Given the description of an element on the screen output the (x, y) to click on. 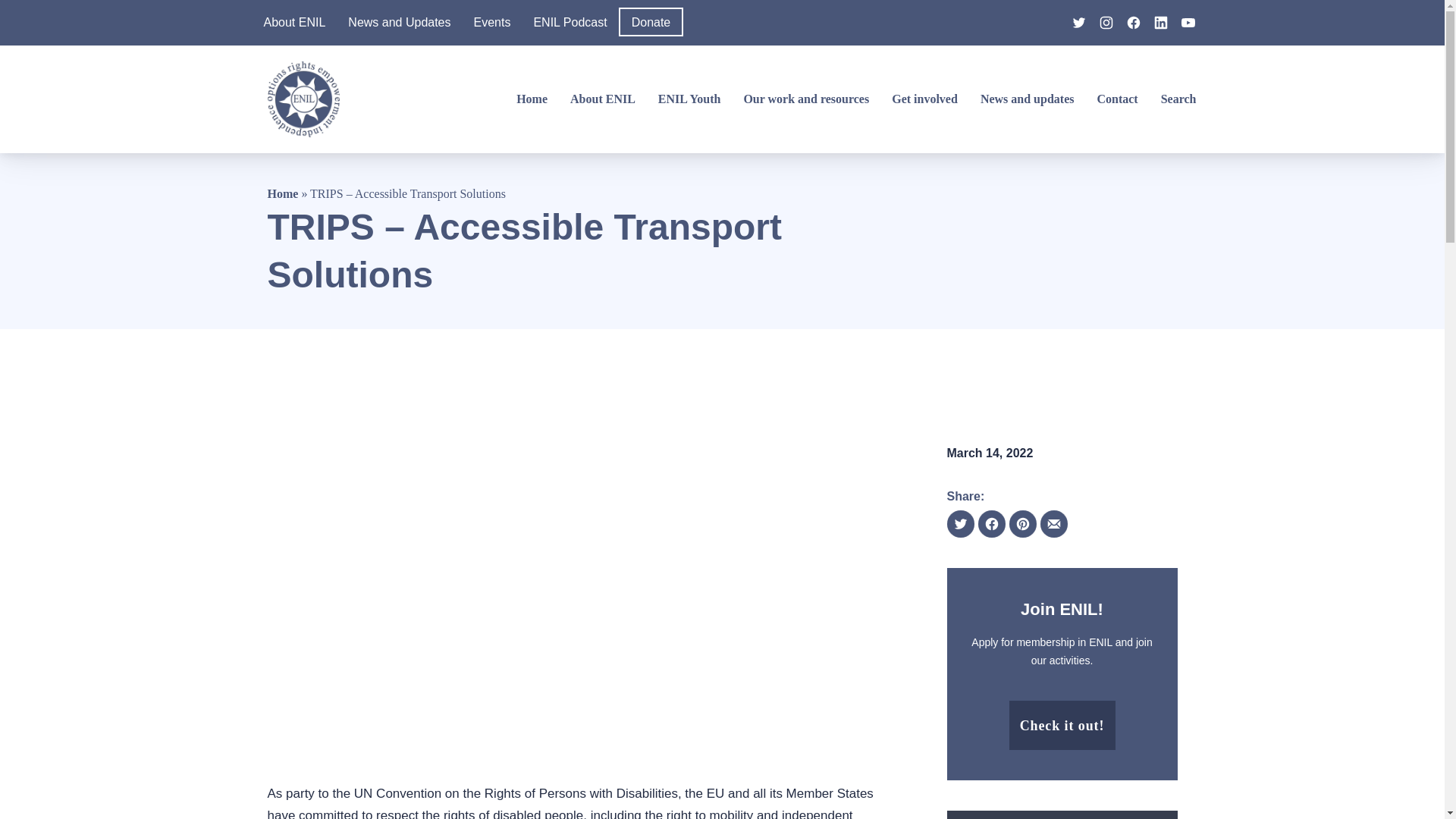
Facebook (1133, 22)
LinkedIn (1160, 22)
Instagram (1105, 22)
YouTube (1187, 22)
Twitter (1078, 22)
